Given the description of an element on the screen output the (x, y) to click on. 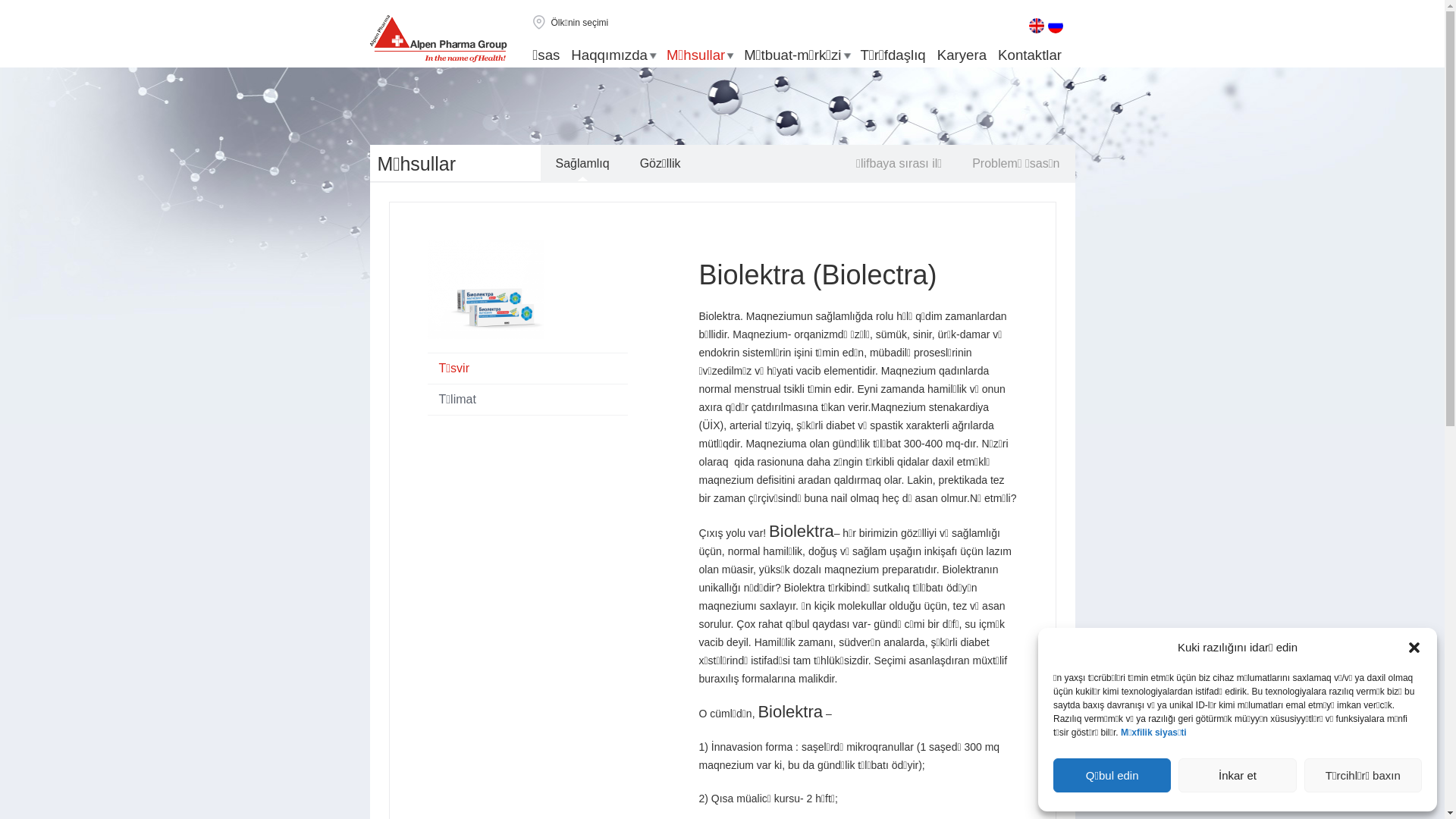
Karyera Element type: text (961, 55)
Biolektra (Biolectra) Element type: text (818, 274)
Kontaktlar Element type: text (1029, 55)
